Given the description of an element on the screen output the (x, y) to click on. 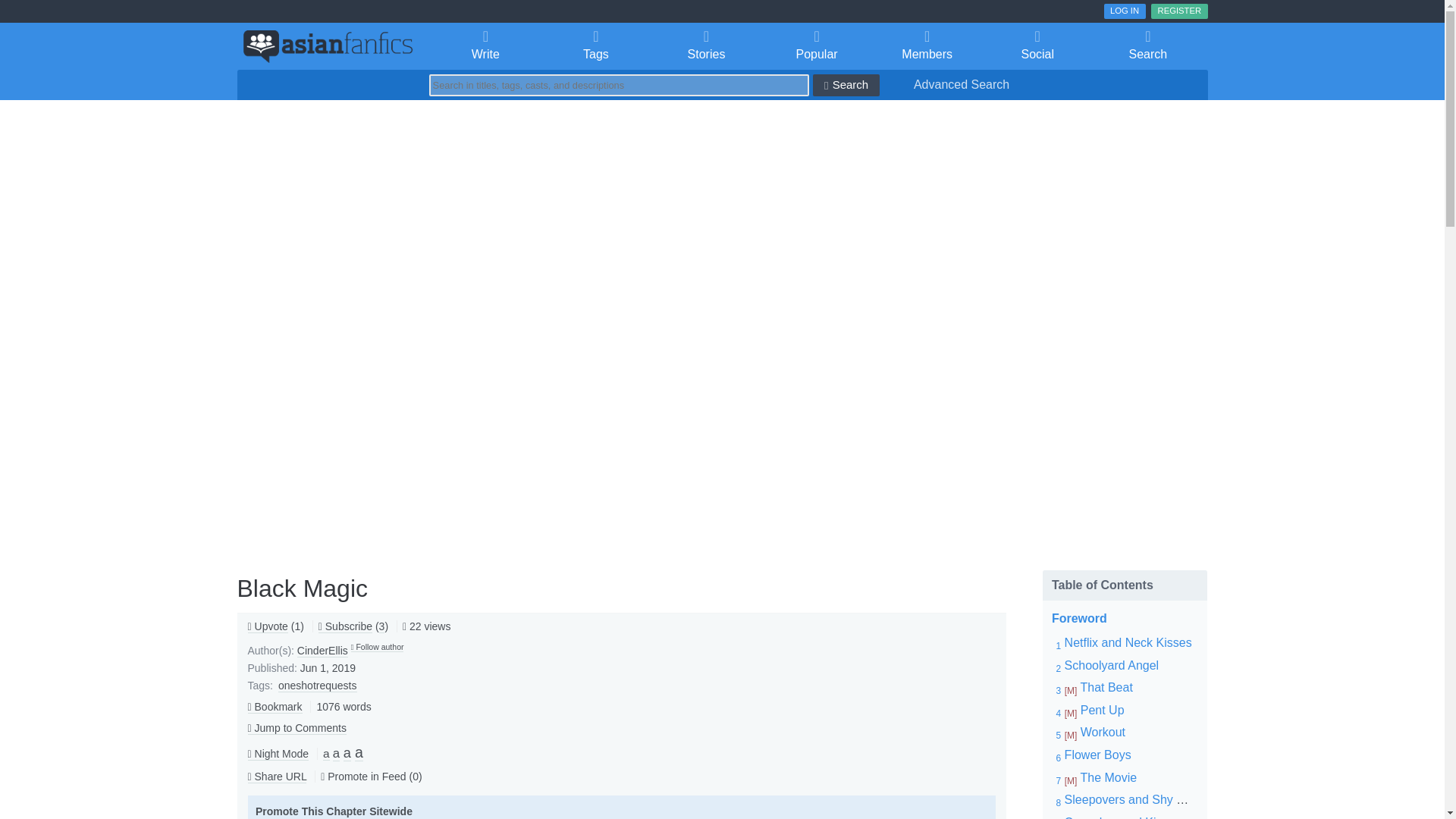
Social (1037, 45)
Members (927, 45)
REGISTER (1179, 10)
Search (1148, 45)
Popular (816, 45)
LOG IN (1124, 10)
Write (485, 45)
Tags (595, 45)
